Given the description of an element on the screen output the (x, y) to click on. 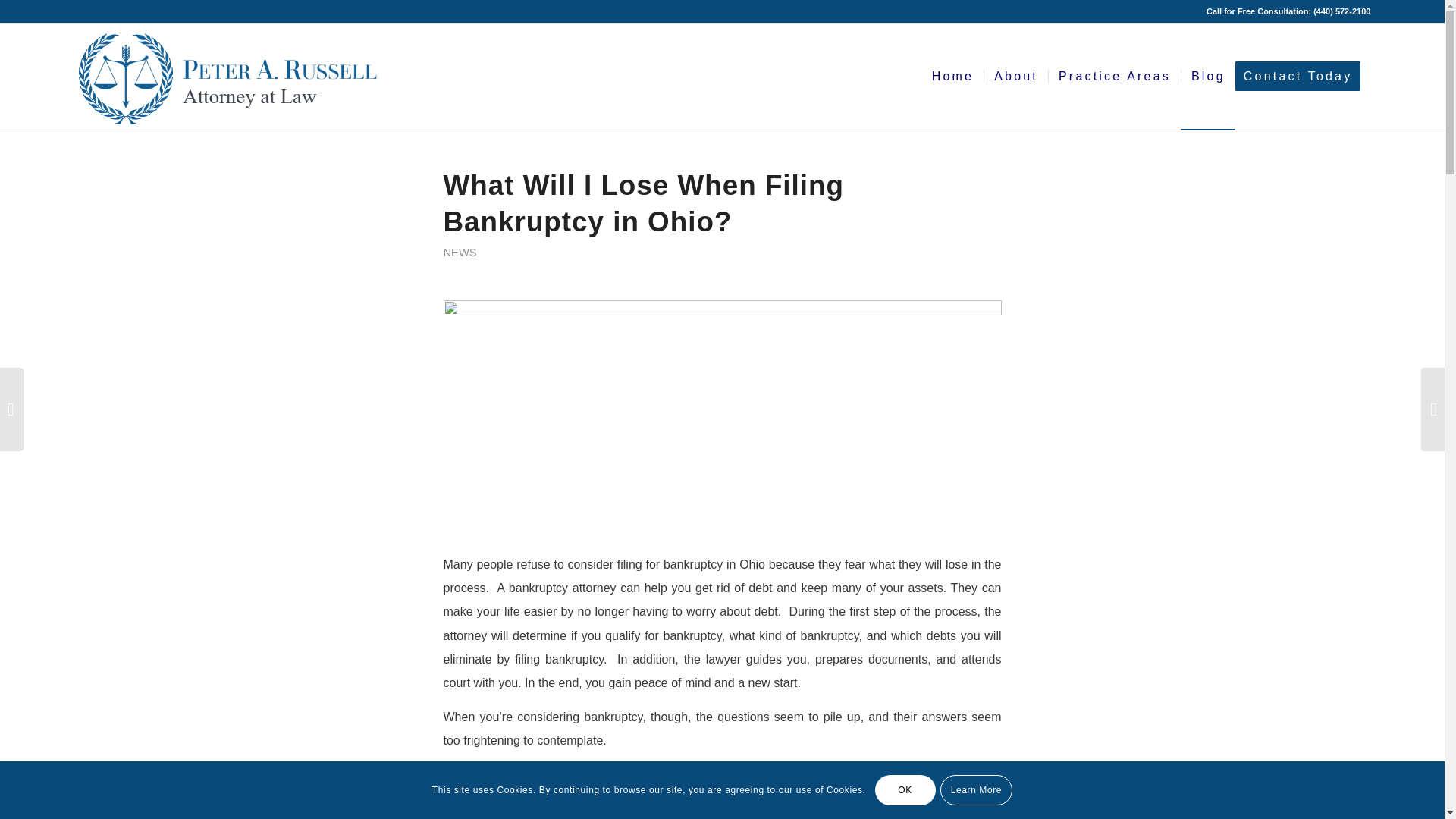
Contact Today (1302, 76)
NEWS (459, 252)
Practice Areas (1114, 76)
